Given the description of an element on the screen output the (x, y) to click on. 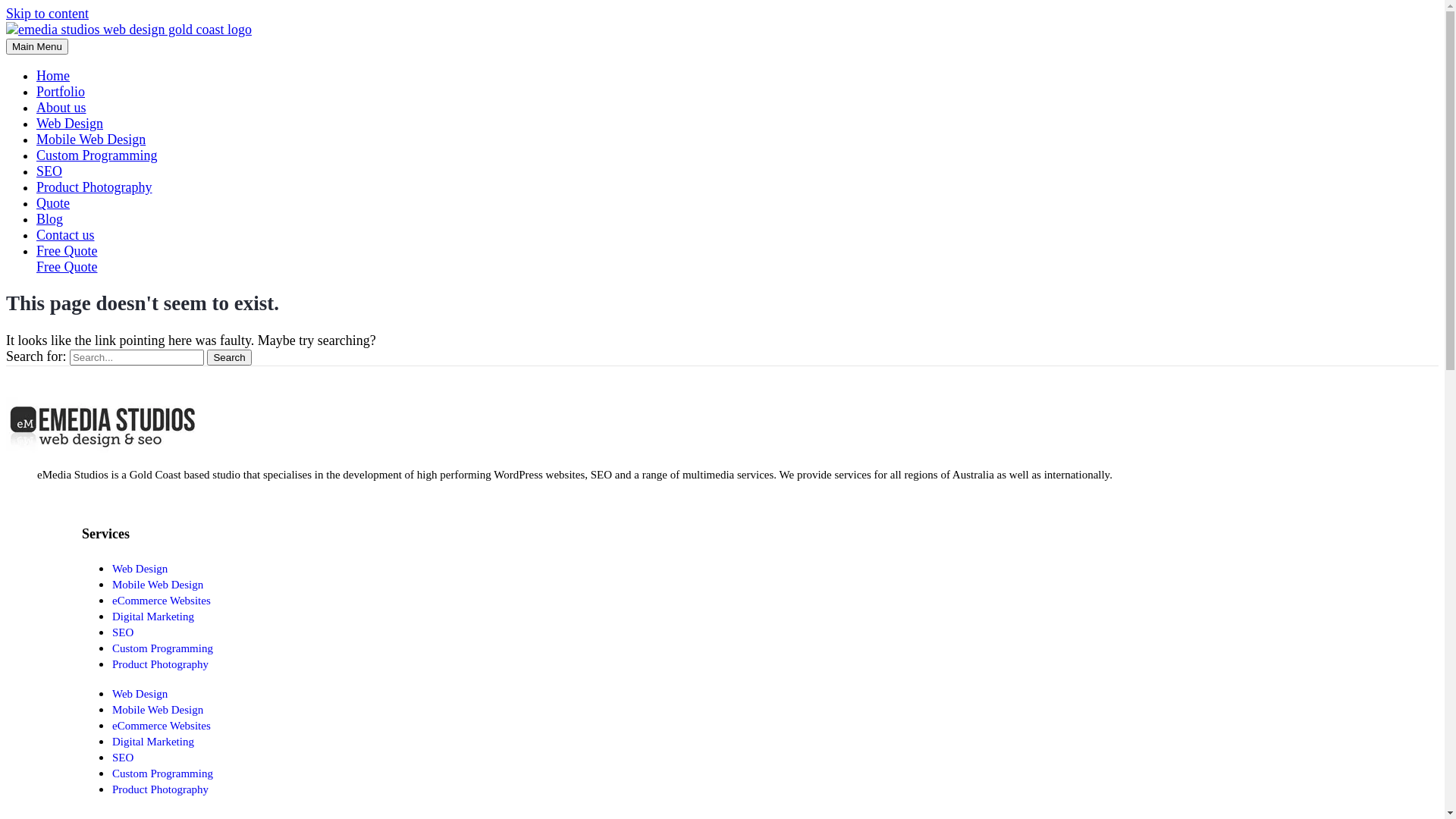
Home Element type: text (52, 75)
eCommerce Websites Element type: text (161, 600)
Web Design Element type: text (139, 693)
Product Photography Element type: text (160, 789)
Web Design Element type: text (69, 123)
Product Photography Element type: text (94, 186)
Mobile Web Design Element type: text (157, 584)
Mobile Web Design Element type: text (90, 139)
Product Photography Element type: text (160, 663)
Portfolio Element type: text (60, 91)
Mobile Web Design Element type: text (157, 709)
Custom Programming Element type: text (162, 773)
Main Menu Element type: text (37, 46)
Free Quote Element type: text (737, 258)
SEO Element type: text (122, 757)
About us Element type: text (61, 107)
Custom Programming Element type: text (162, 647)
SEO Element type: text (122, 632)
SEO Element type: text (49, 170)
eCommerce Websites Element type: text (161, 725)
Free Quote Element type: text (66, 266)
Search Element type: text (229, 357)
Custom Programming Element type: text (96, 155)
Quote Element type: text (52, 202)
Skip to content Element type: text (47, 13)
Web Design Element type: text (139, 568)
Digital Marketing Element type: text (153, 741)
Blog Element type: text (49, 218)
Digital Marketing Element type: text (153, 616)
Contact us Element type: text (65, 234)
